Given the description of an element on the screen output the (x, y) to click on. 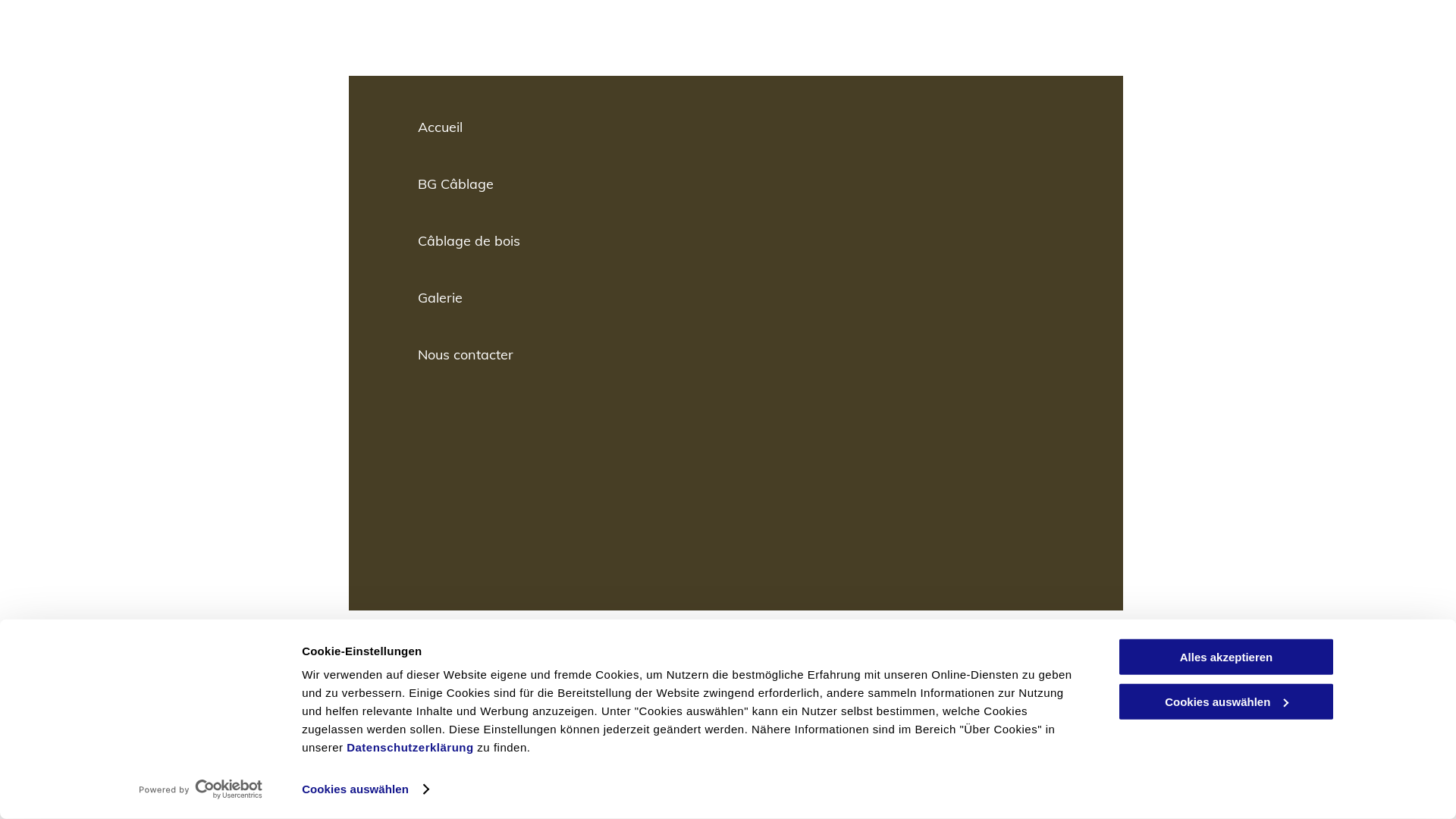
Nous contacter Element type: text (735, 354)
Accueil Element type: text (735, 126)
Alles akzeptieren Element type: text (1225, 656)
Galerie Element type: text (735, 297)
